Given the description of an element on the screen output the (x, y) to click on. 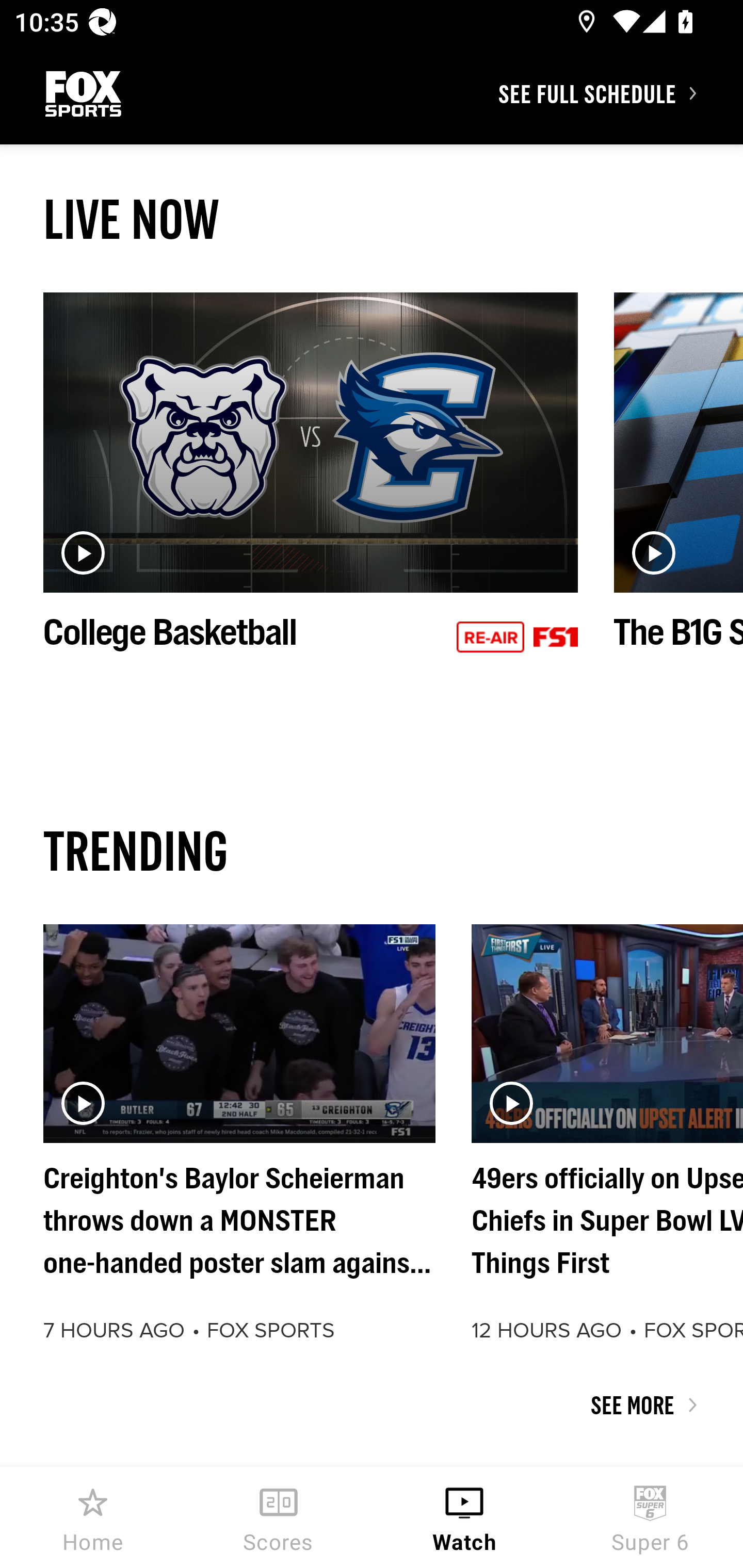
SEE FULL SCHEDULE (620, 93)
LIVE NOW (371, 218)
College Basketball (310, 494)
TRENDING (371, 850)
SEE MORE (371, 1404)
Home (92, 1517)
Scores (278, 1517)
Super 6 (650, 1517)
